Given the description of an element on the screen output the (x, y) to click on. 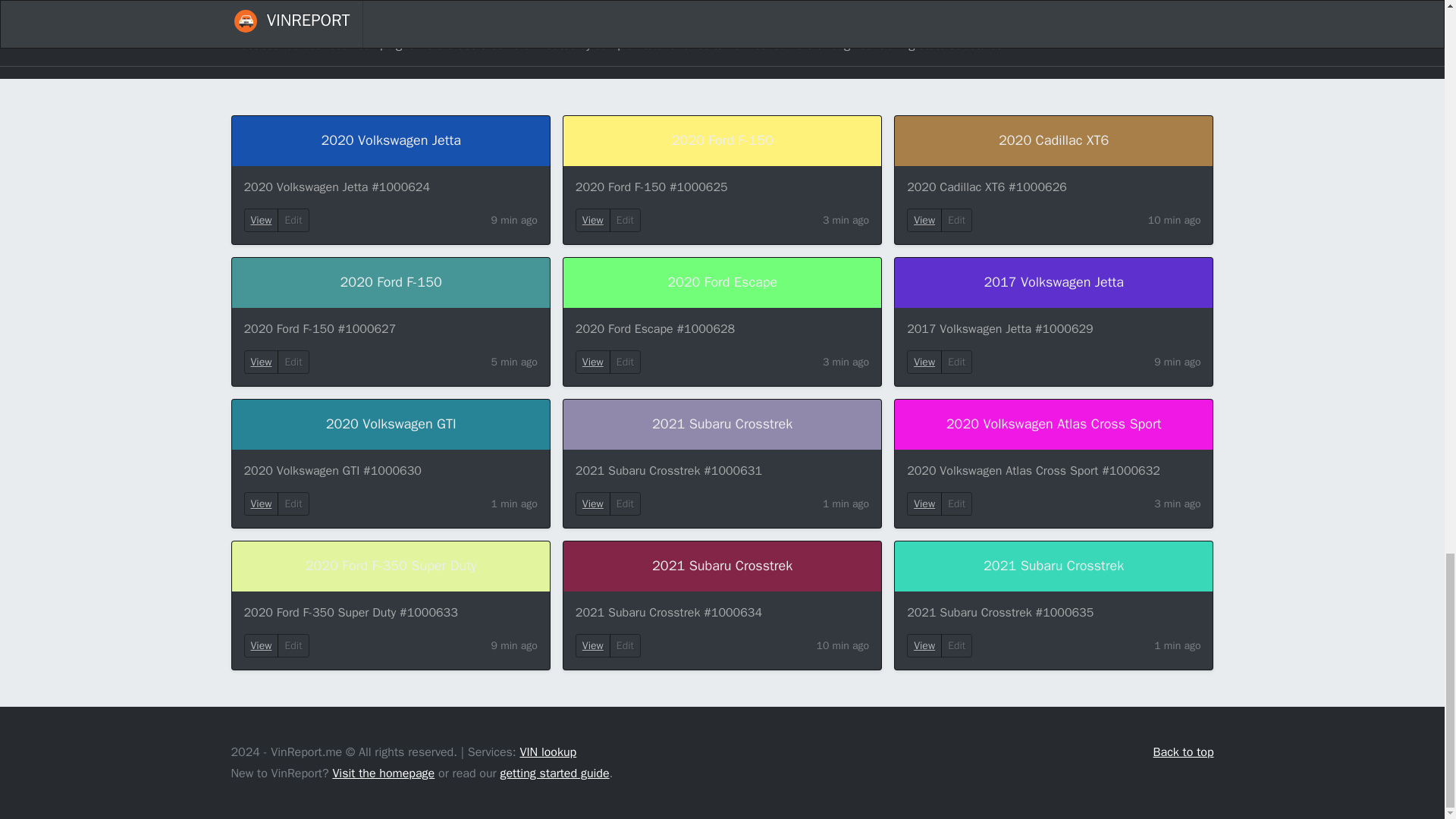
2020 Ford F-150 (721, 141)
View (261, 645)
View (592, 503)
Edit (625, 503)
2017 Volkswagen Jetta (1053, 282)
View (924, 503)
2019 Hyundai TUCSON problems (333, 26)
View (260, 645)
View (593, 503)
View (592, 361)
View (924, 503)
View (261, 503)
View (260, 503)
2021 Subaru Crosstrek (721, 424)
Edit (956, 219)
